Given the description of an element on the screen output the (x, y) to click on. 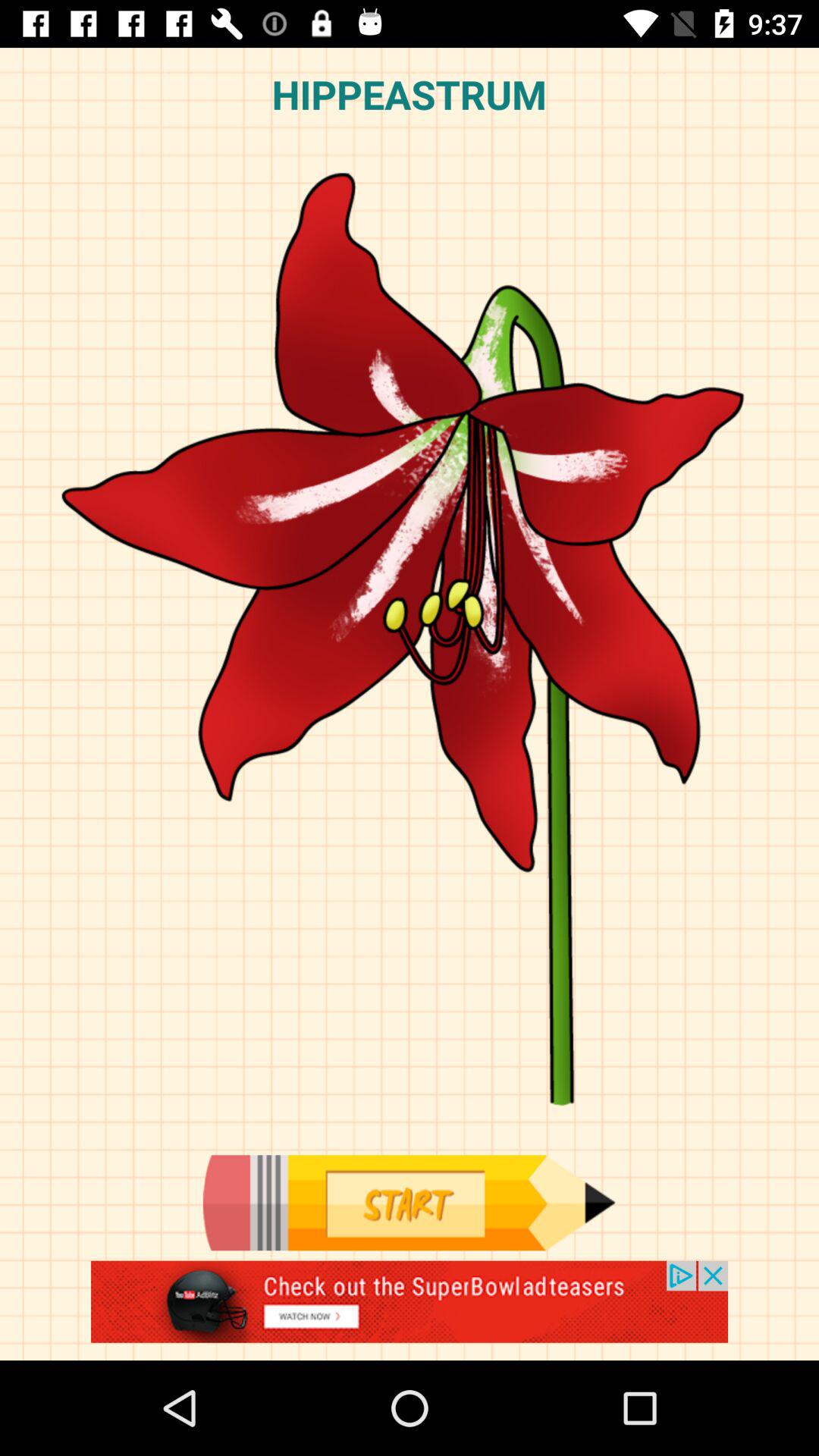
click to see super bowl advertisement teasers (409, 1310)
